Given the description of an element on the screen output the (x, y) to click on. 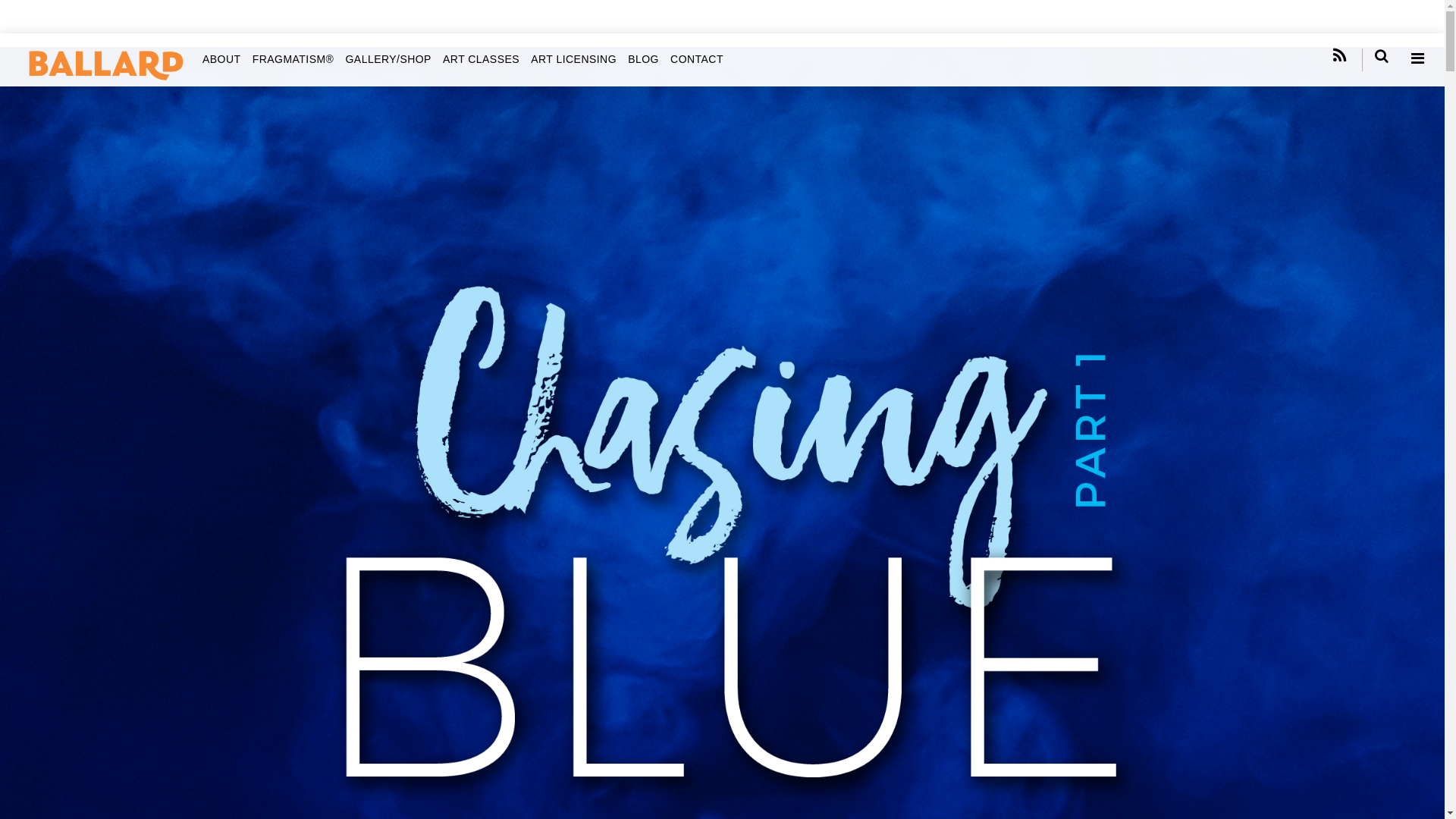
CONTACT (696, 59)
ART CLASSES (480, 59)
ABOUT (221, 59)
Kristine Ballard (105, 76)
ART LICENSING (573, 59)
BLOG (643, 59)
Kristine Ballard (105, 64)
